Given the description of an element on the screen output the (x, y) to click on. 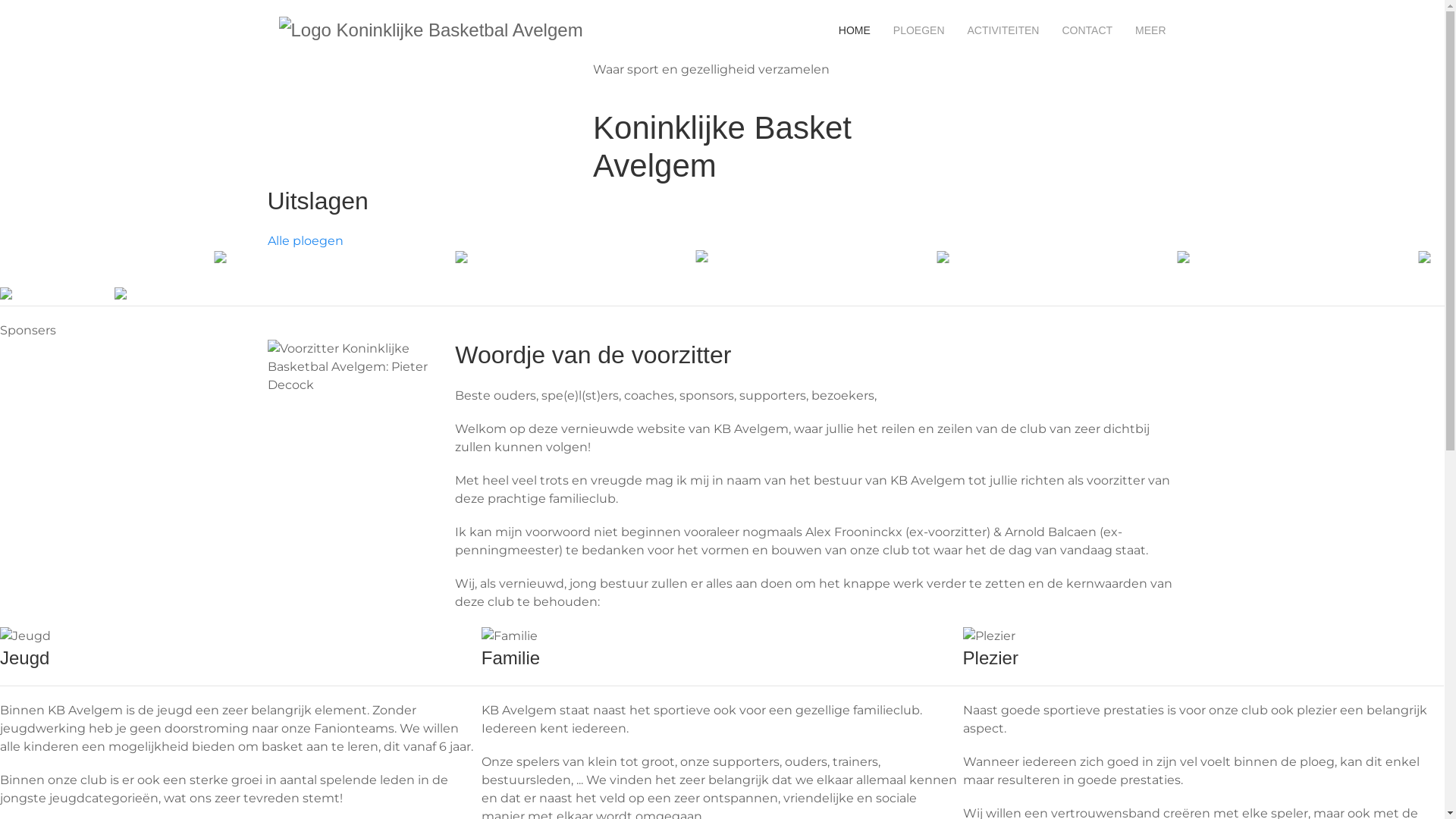
CONTACT Element type: text (1086, 30)
MEER Element type: text (1149, 30)
Alle ploegen Element type: text (304, 240)
ACTIVITEITEN Element type: text (1003, 30)
HOME Element type: text (854, 30)
PLOEGEN Element type: text (918, 30)
